Given the description of an element on the screen output the (x, y) to click on. 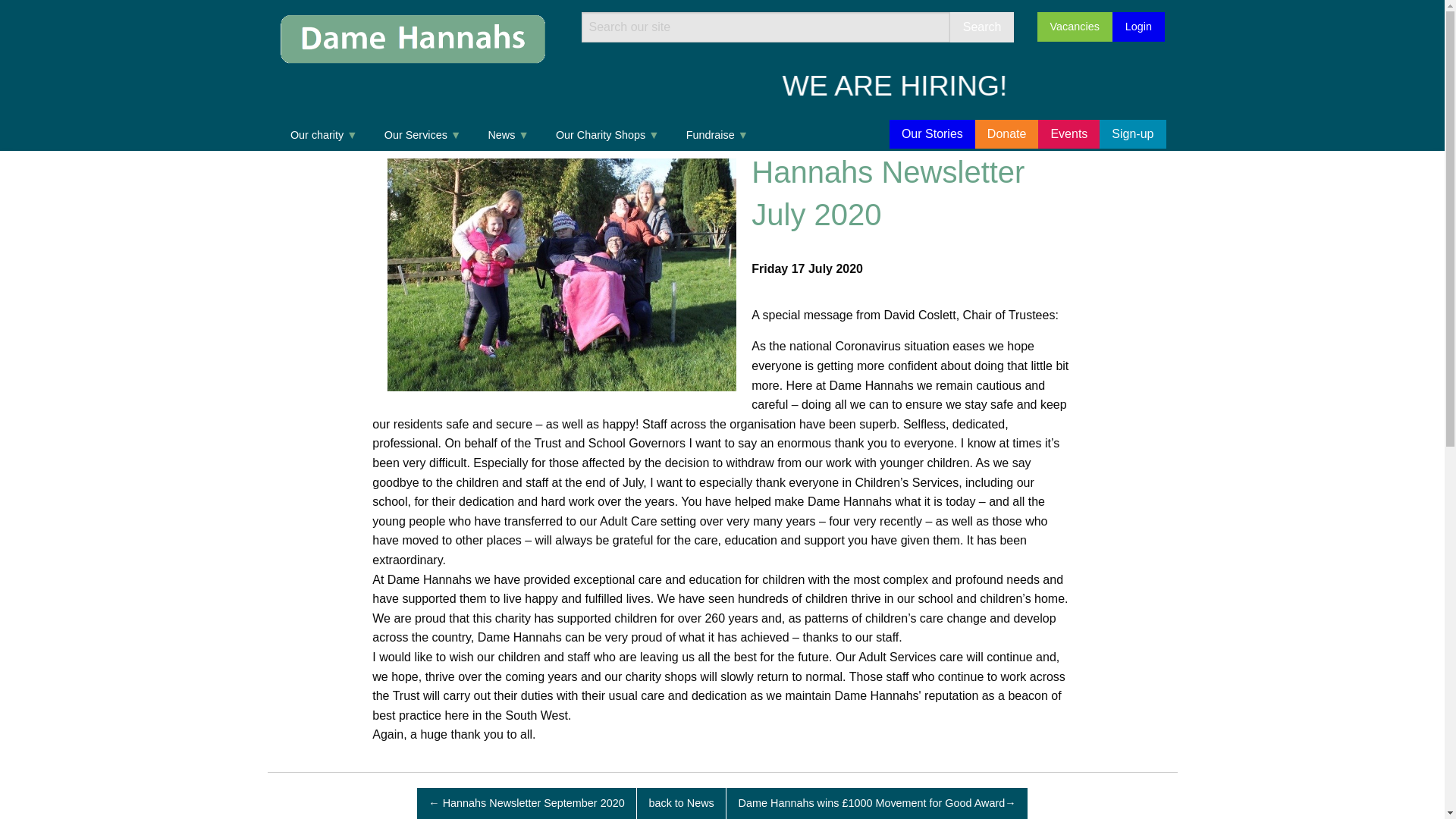
Vacancies (1074, 26)
Search (982, 27)
Search (982, 27)
Login (1138, 26)
